Given the description of an element on the screen output the (x, y) to click on. 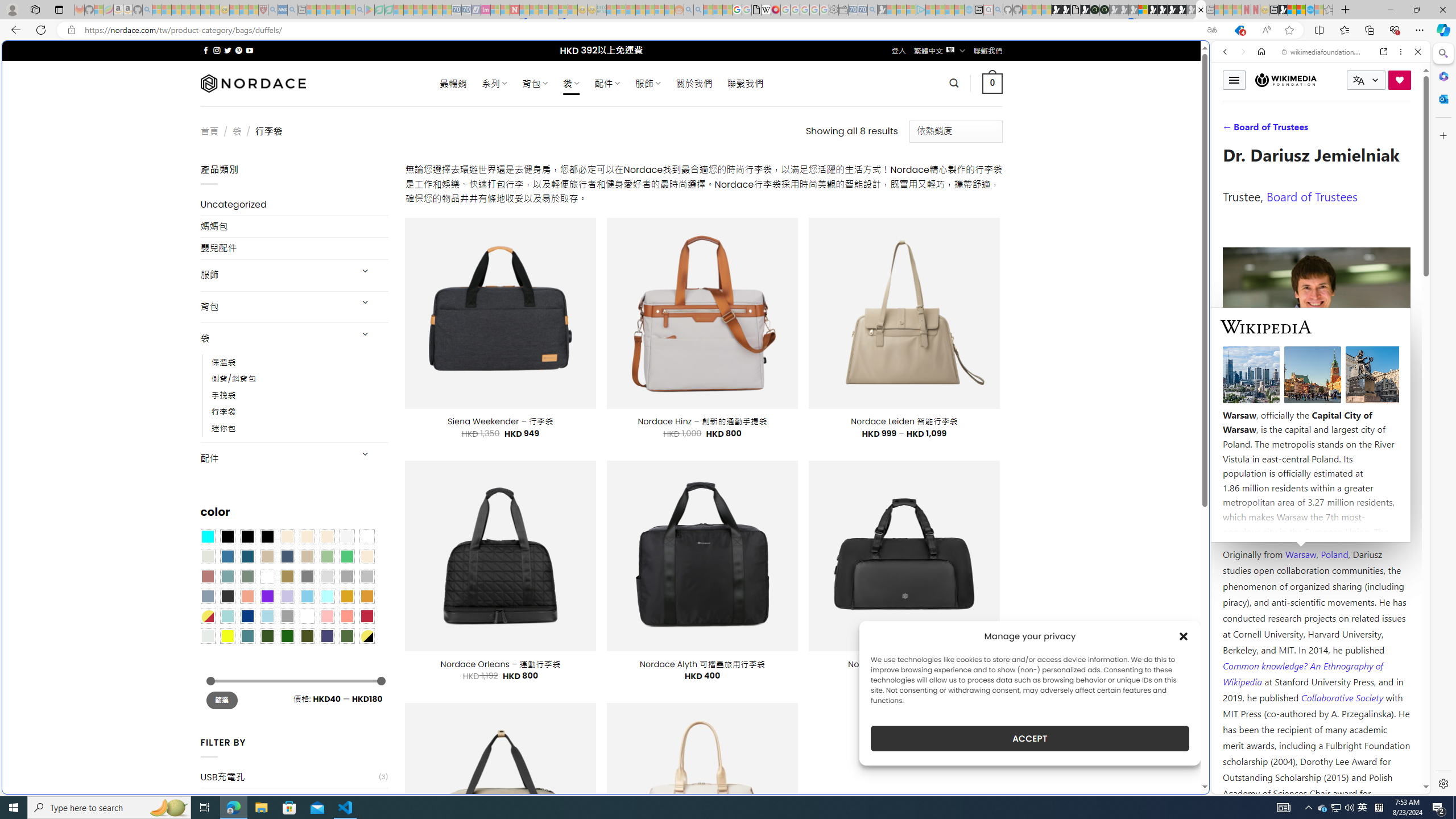
Uncategorized (294, 204)
